Given the description of an element on the screen output the (x, y) to click on. 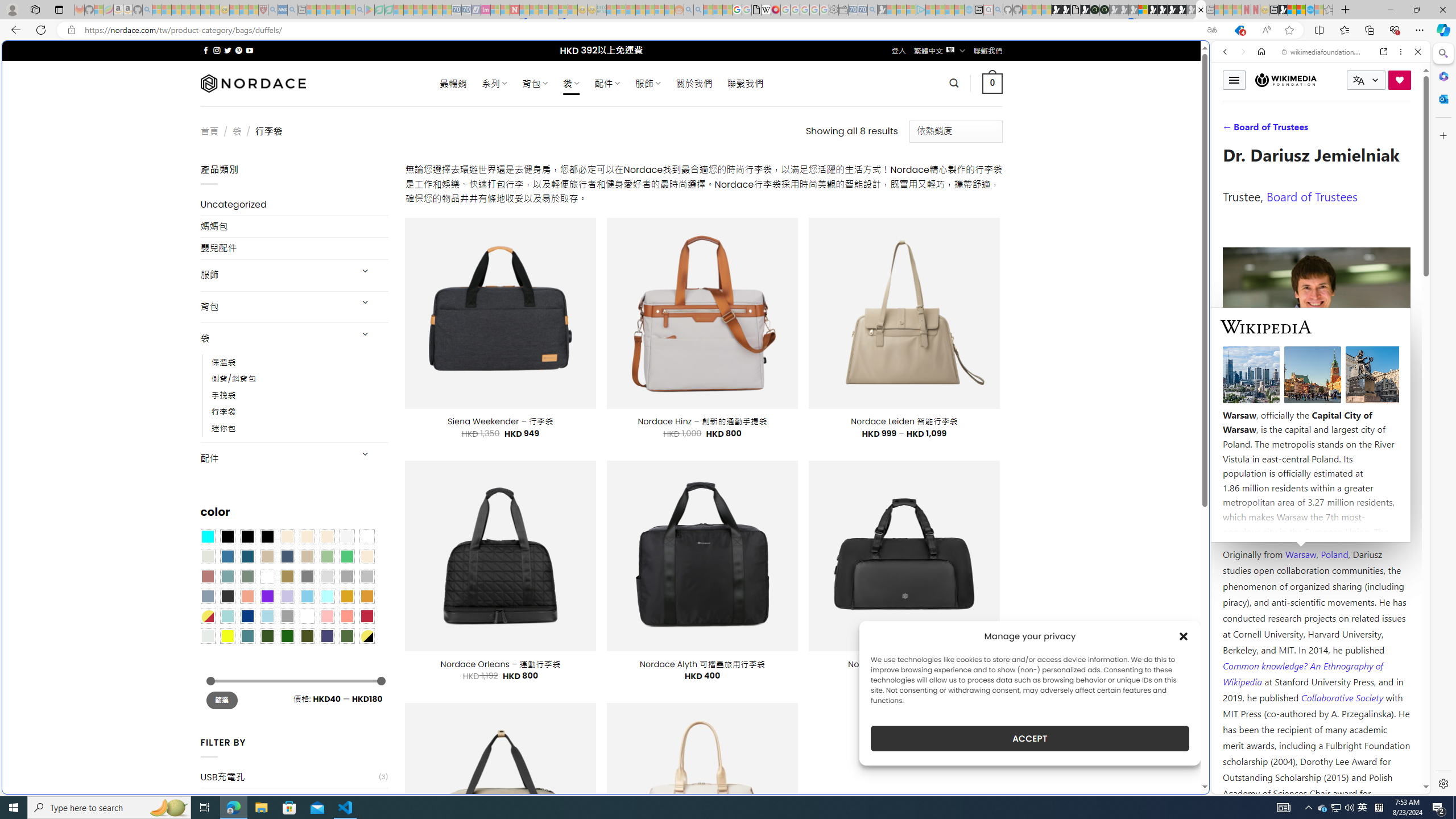
Uncategorized (294, 204)
